Given the description of an element on the screen output the (x, y) to click on. 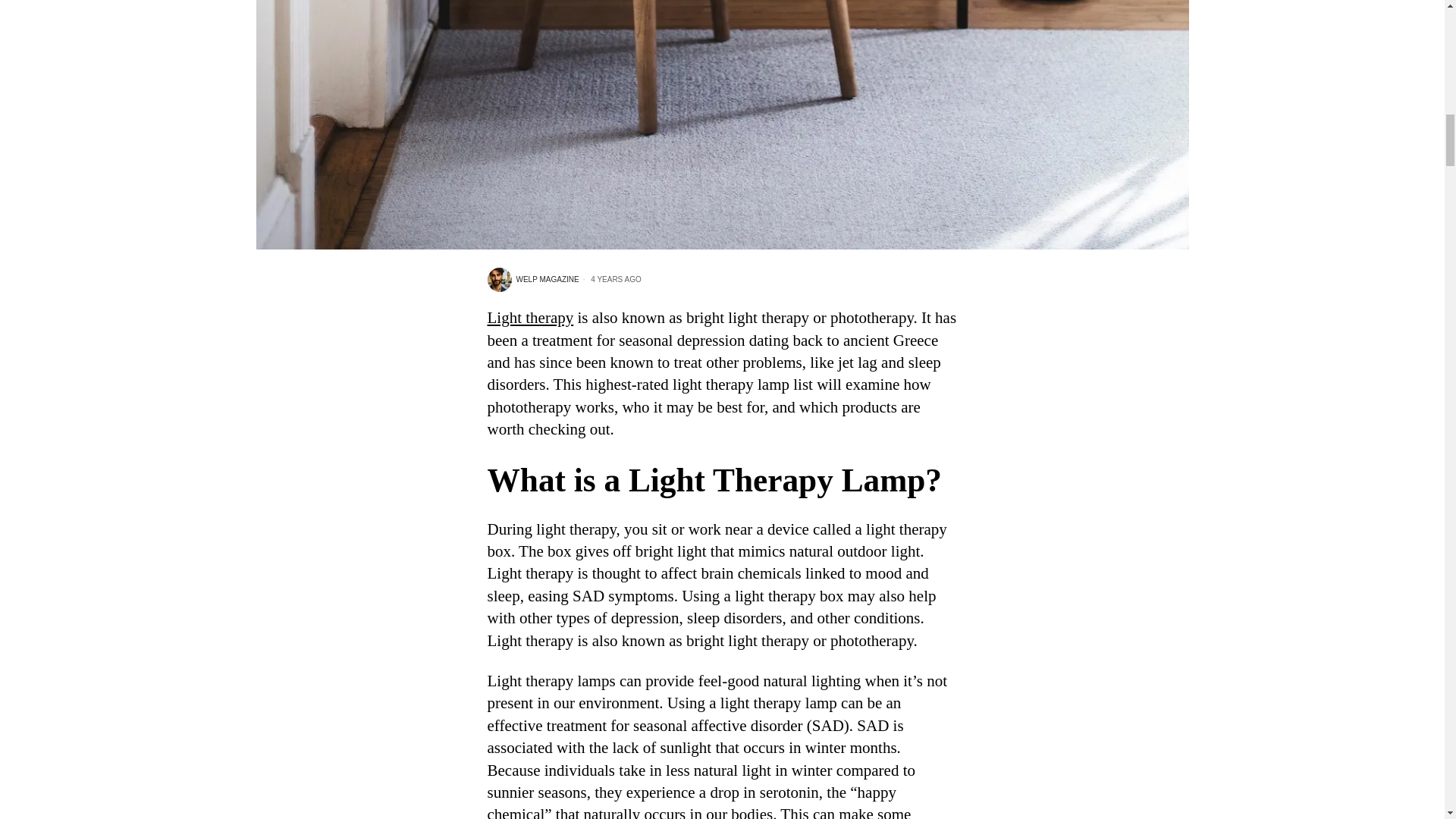
Light therapy (529, 317)
30 Oct, 2020 14:00:36 (610, 279)
WELP MAGAZINE (532, 279)
